Given the description of an element on the screen output the (x, y) to click on. 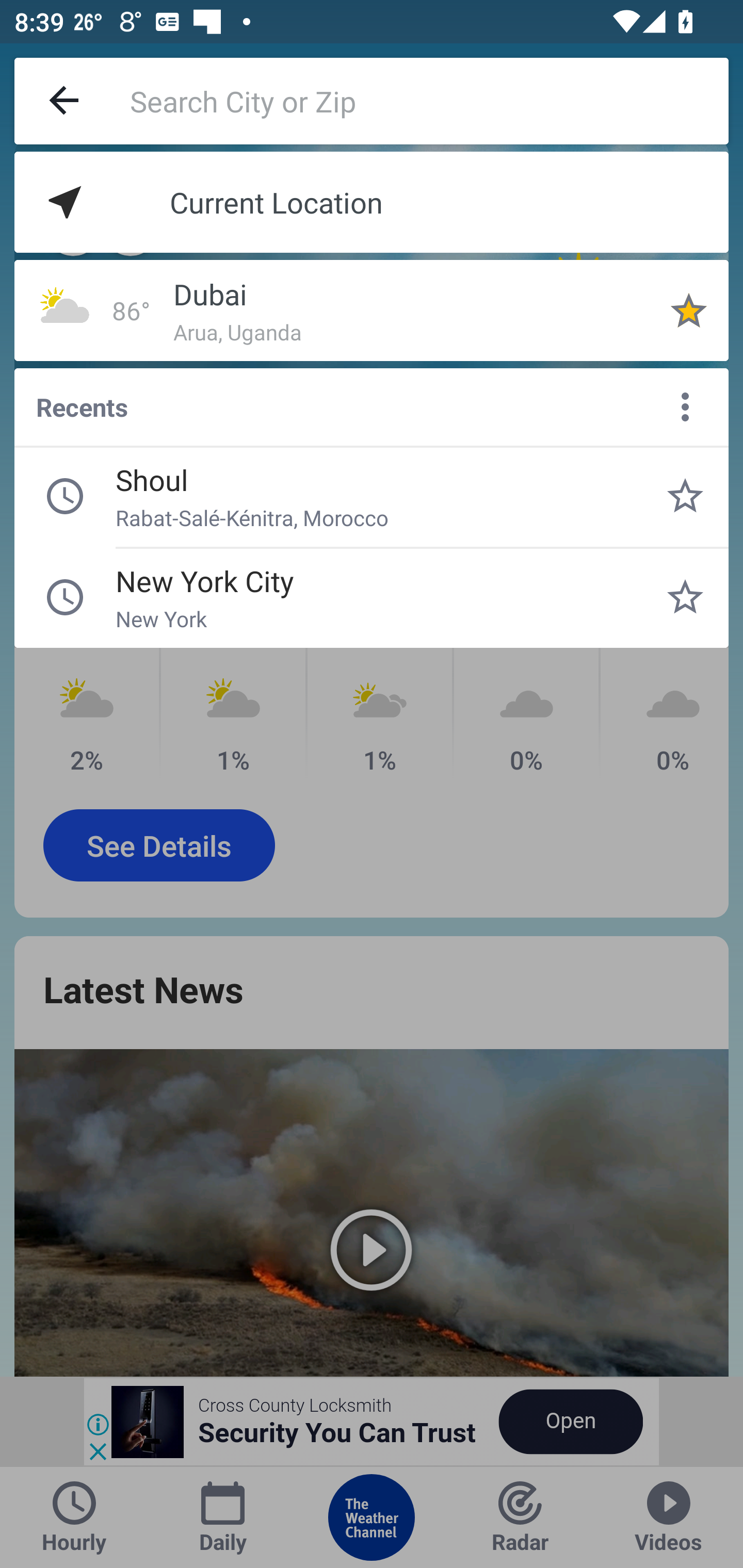
Back (64, 101)
Search City or Zip (429, 100)
Current Location (371, 202)
Dubai Arua, Uganda Remove from favorites (688, 310)
more (685, 406)
Shoul Rabat-Salé-Kénitra, Morocco Add to favorites (684, 496)
New York City New York Add to favorites (684, 597)
